Given the description of an element on the screen output the (x, y) to click on. 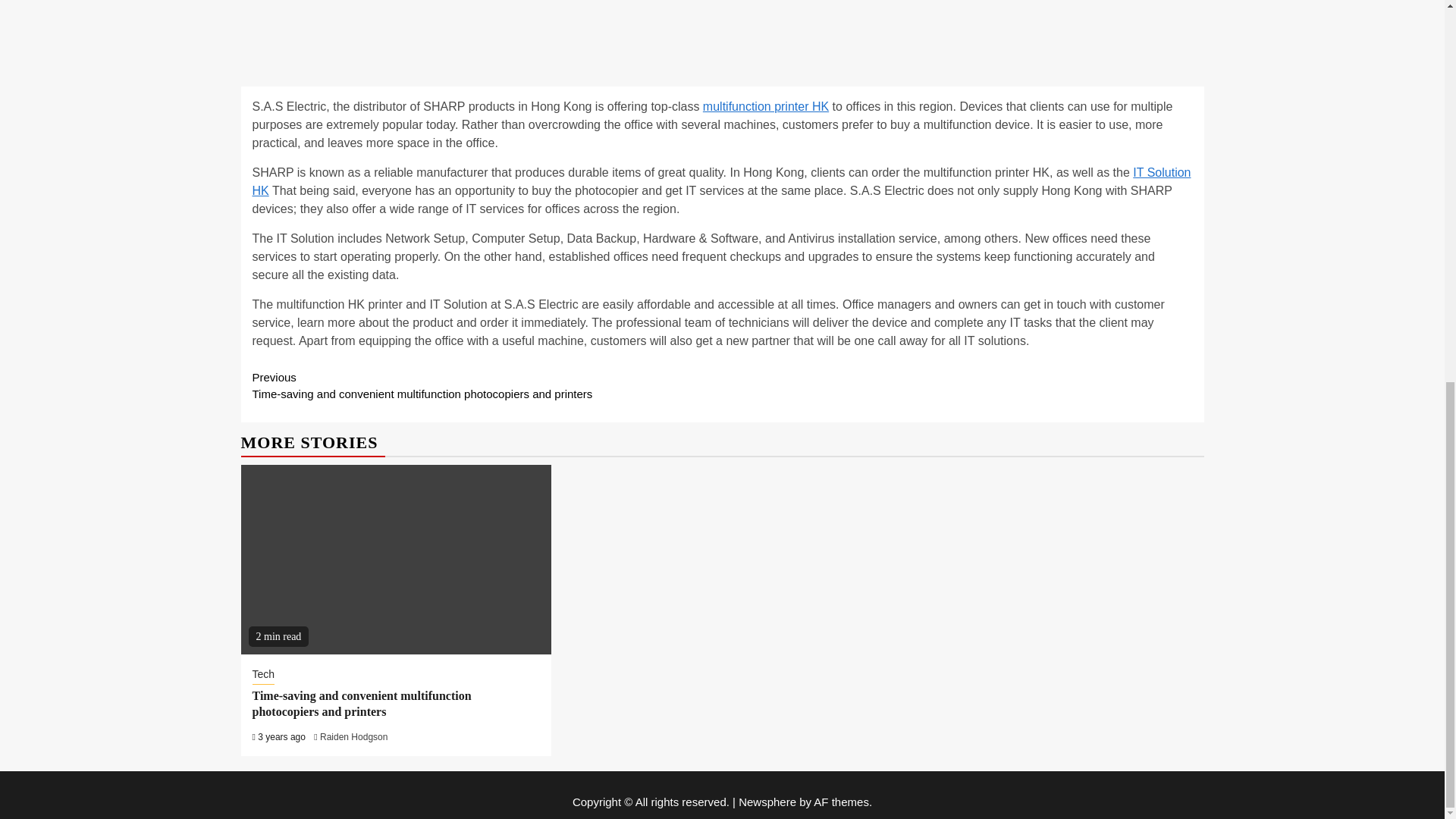
IT Solution HK (721, 181)
Newsphere (767, 801)
Tech (263, 675)
Raiden Hodgson (353, 737)
multifunction printer HK (765, 106)
